Given the description of an element on the screen output the (x, y) to click on. 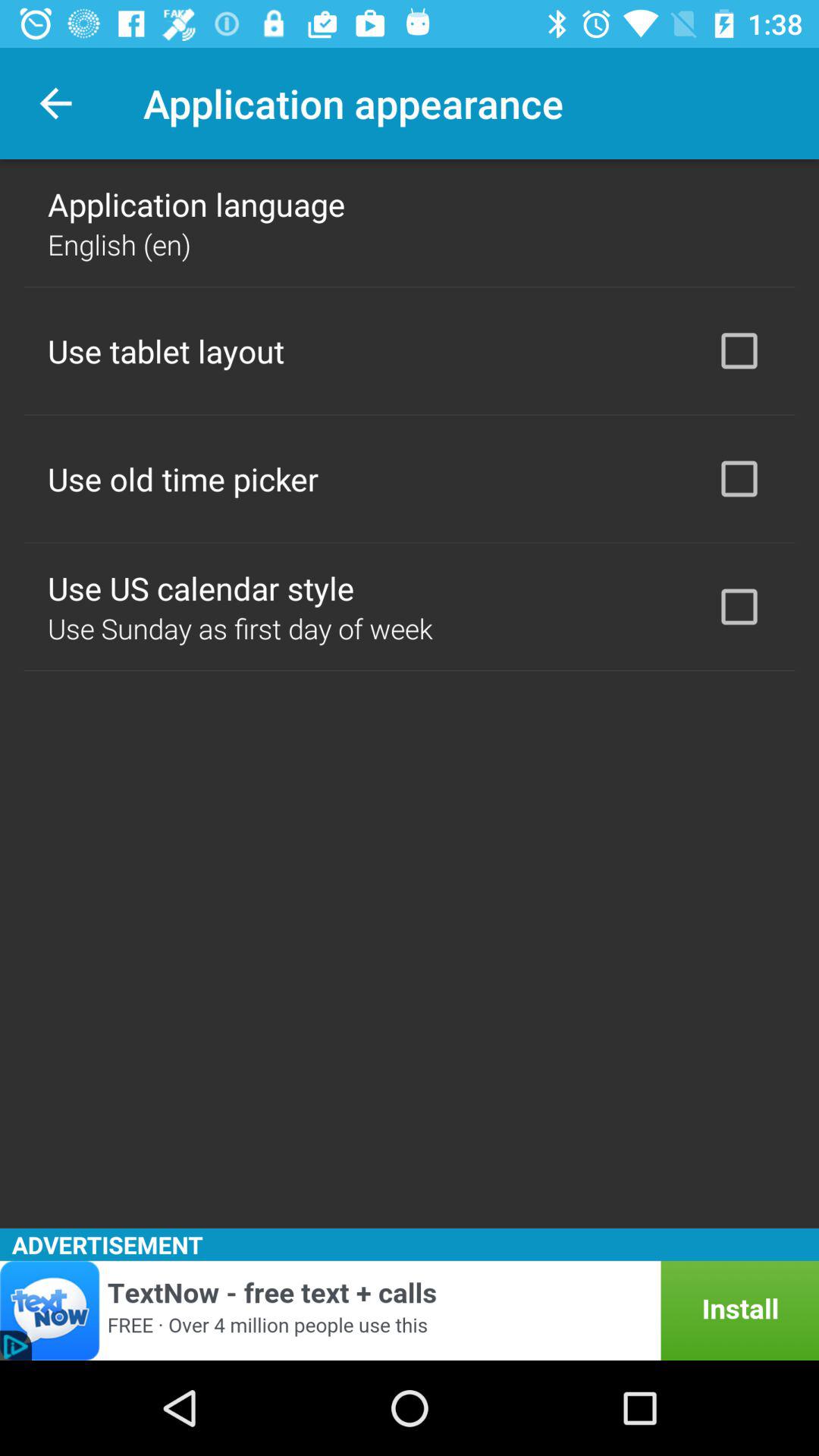
launch icon above the application language icon (55, 103)
